Given the description of an element on the screen output the (x, y) to click on. 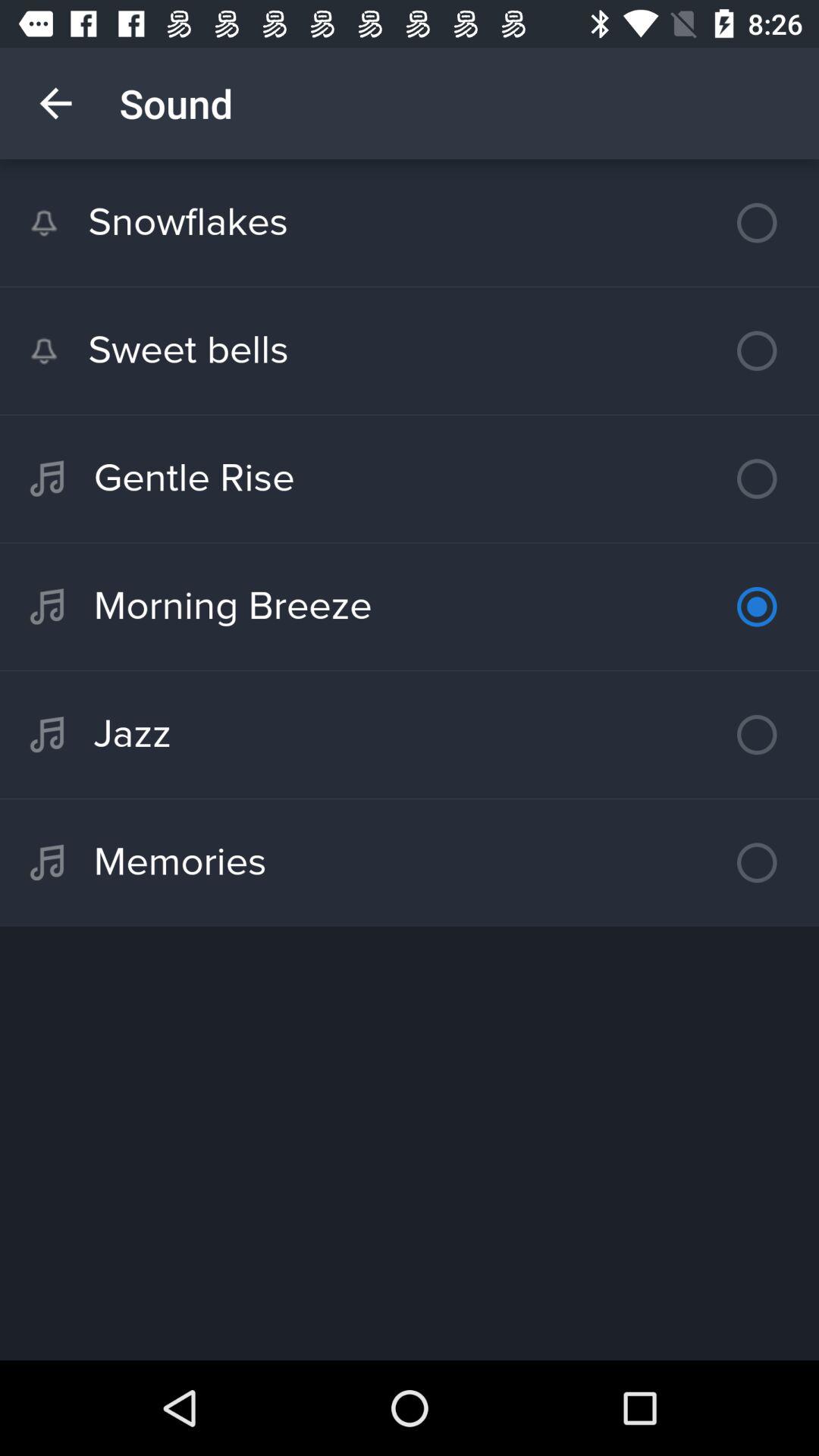
tap the item above memories item (409, 734)
